Given the description of an element on the screen output the (x, y) to click on. 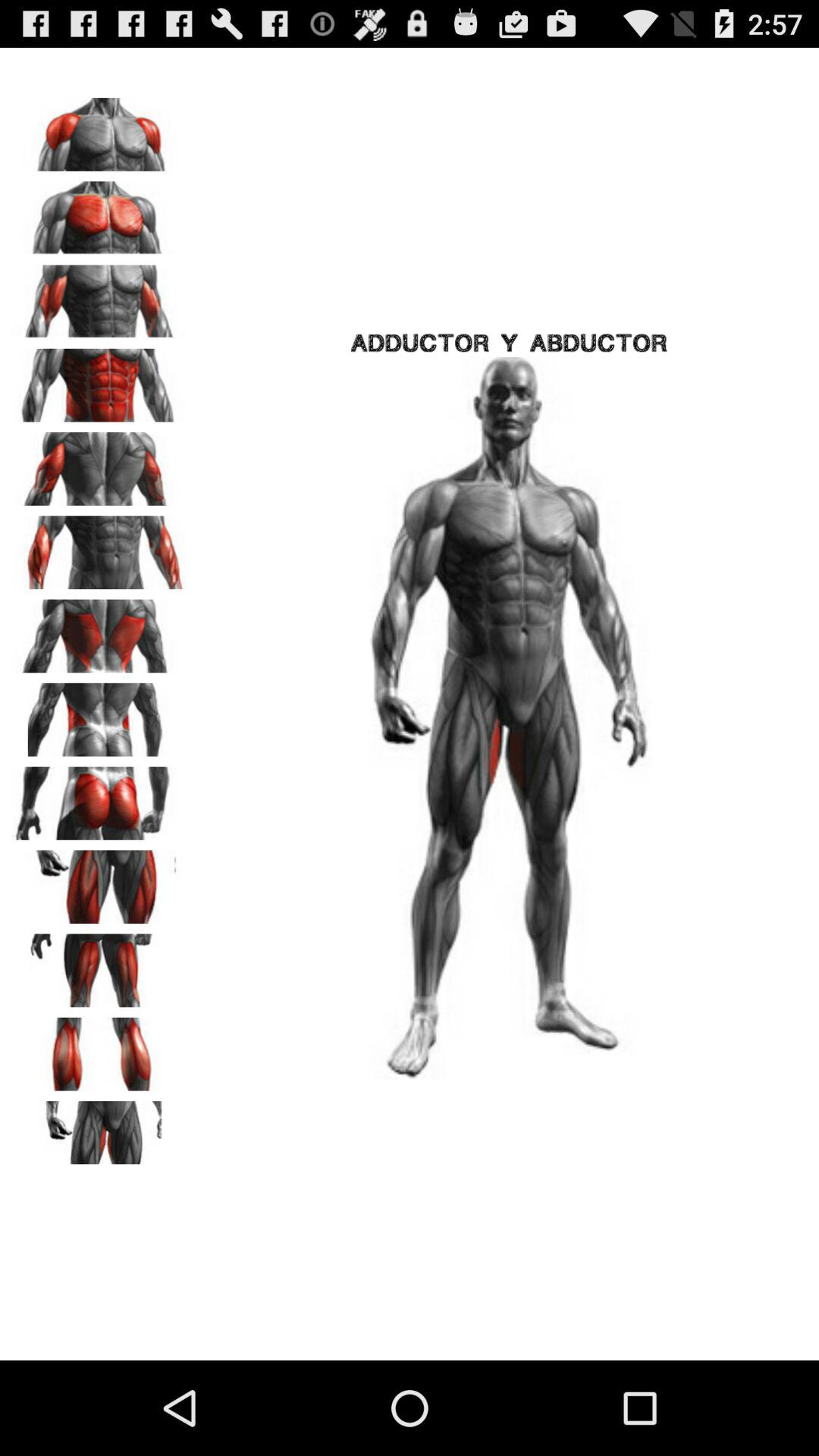
legs selection (99, 1048)
